Given the description of an element on the screen output the (x, y) to click on. 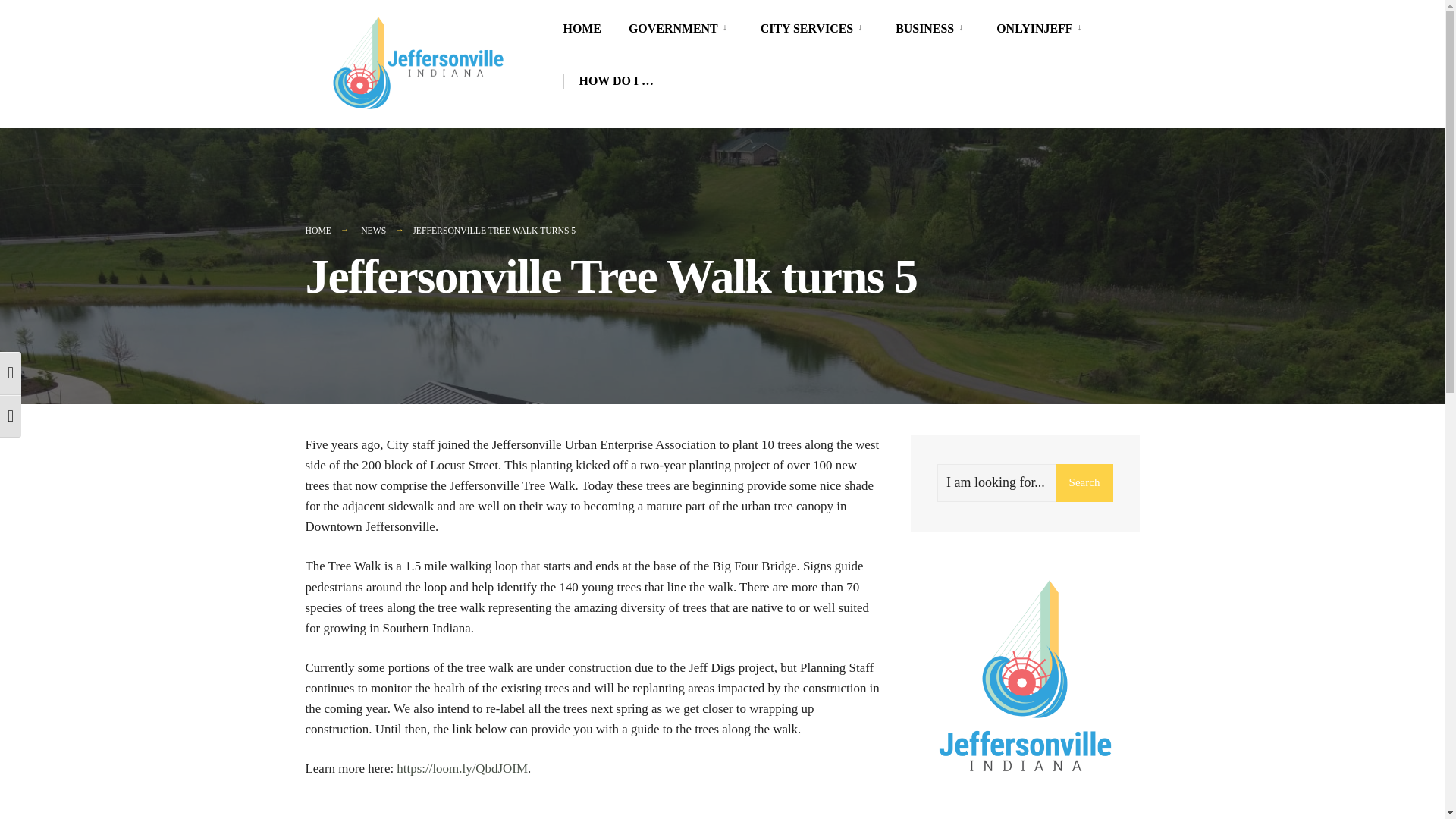
CITY SERVICES (813, 28)
HOME (580, 28)
GOVERNMENT (680, 28)
BUSINESS (932, 28)
I am looking for... (1025, 483)
